Given the description of an element on the screen output the (x, y) to click on. 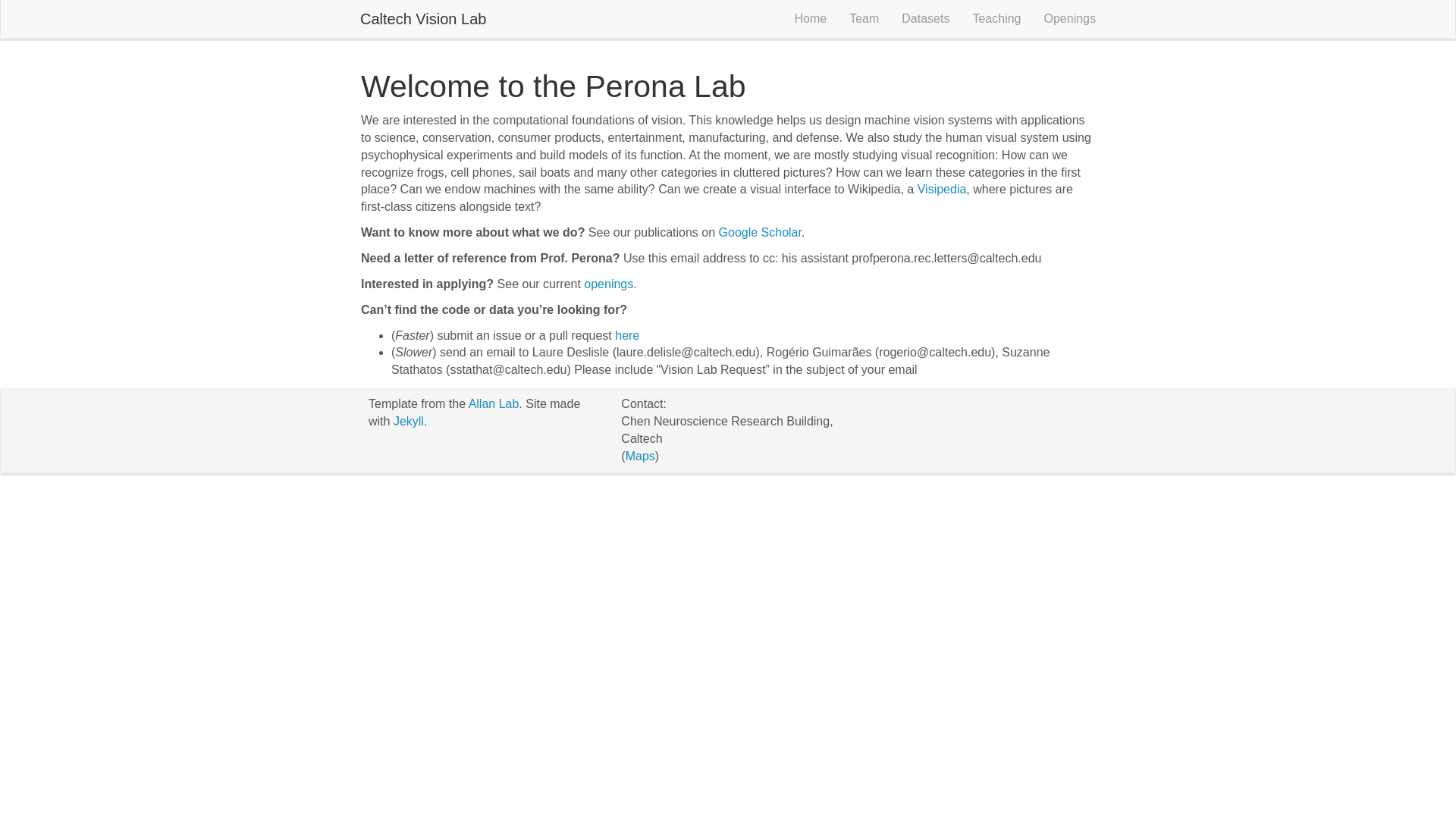
Teaching (996, 18)
Google Scholar (760, 232)
here (626, 335)
Maps (640, 455)
Datasets (924, 18)
Allan Lab (493, 403)
Openings (1070, 18)
Visipedia (941, 188)
Caltech Vision Lab (423, 18)
Team (863, 18)
